Given the description of an element on the screen output the (x, y) to click on. 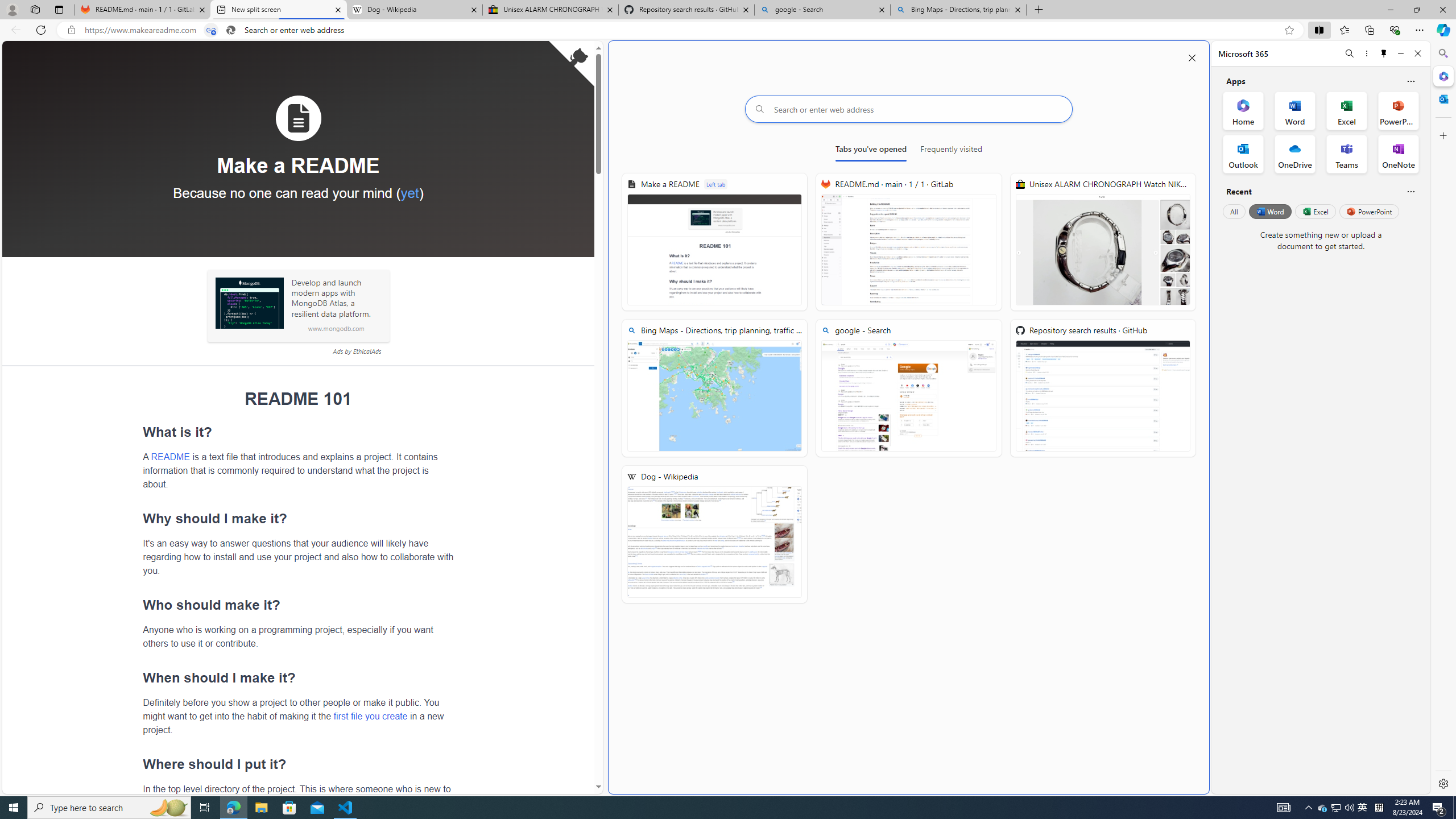
Excel (1315, 210)
All (1233, 210)
README (170, 456)
Sponsored: MongoDB (249, 302)
Outlook Office App (1243, 154)
Teams Office App (1346, 154)
